Given the description of an element on the screen output the (x, y) to click on. 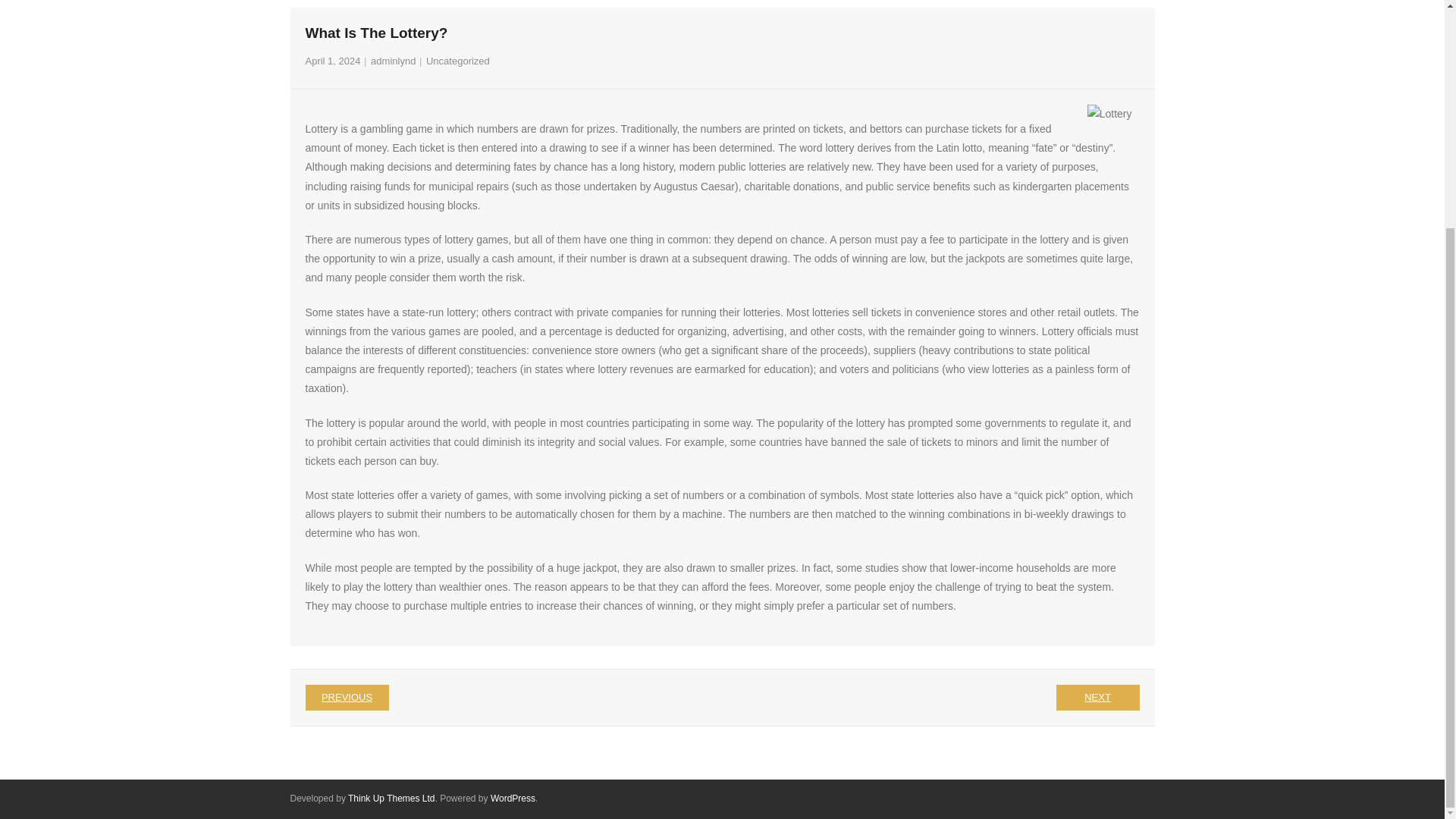
NEXT (1096, 697)
What is the Lottery? (331, 60)
PREVIOUS (346, 697)
Uncategorized (457, 60)
View all posts by adminlynd (392, 60)
Think Up Themes Ltd (391, 798)
WordPress (512, 798)
April 1, 2024 (331, 60)
adminlynd (392, 60)
